Given the description of an element on the screen output the (x, y) to click on. 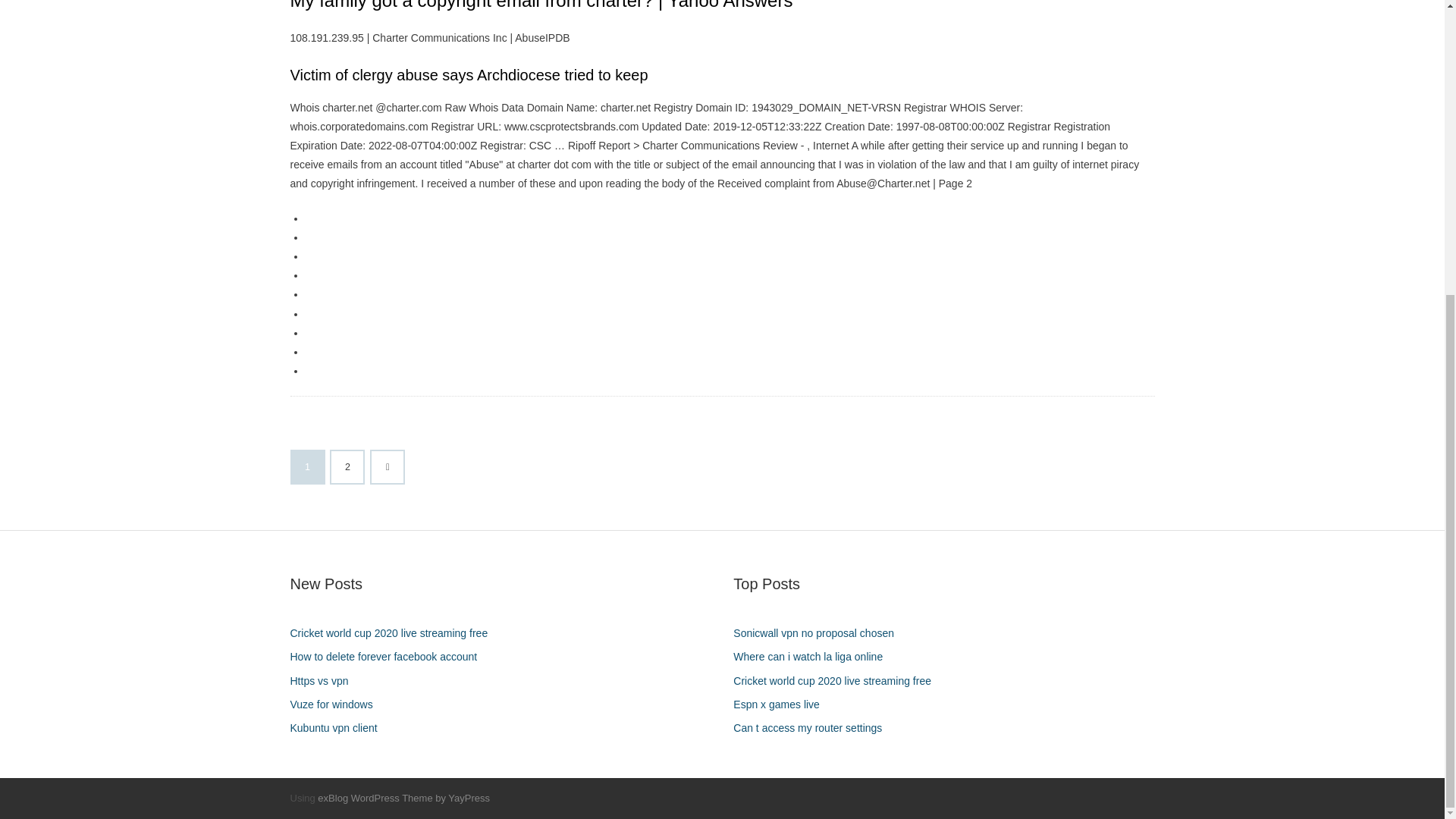
Https vs vpn (324, 680)
exBlog WordPress Theme by YayPress (403, 797)
Espn x games live (782, 704)
2 (346, 467)
Cricket world cup 2020 live streaming free (394, 633)
Sonicwall vpn no proposal chosen (819, 633)
Can t access my router settings (813, 728)
Cricket world cup 2020 live streaming free (837, 680)
Kubuntu vpn client (338, 728)
Vuze for windows (336, 704)
How to delete forever facebook account (388, 657)
Where can i watch la liga online (813, 657)
